Given the description of an element on the screen output the (x, y) to click on. 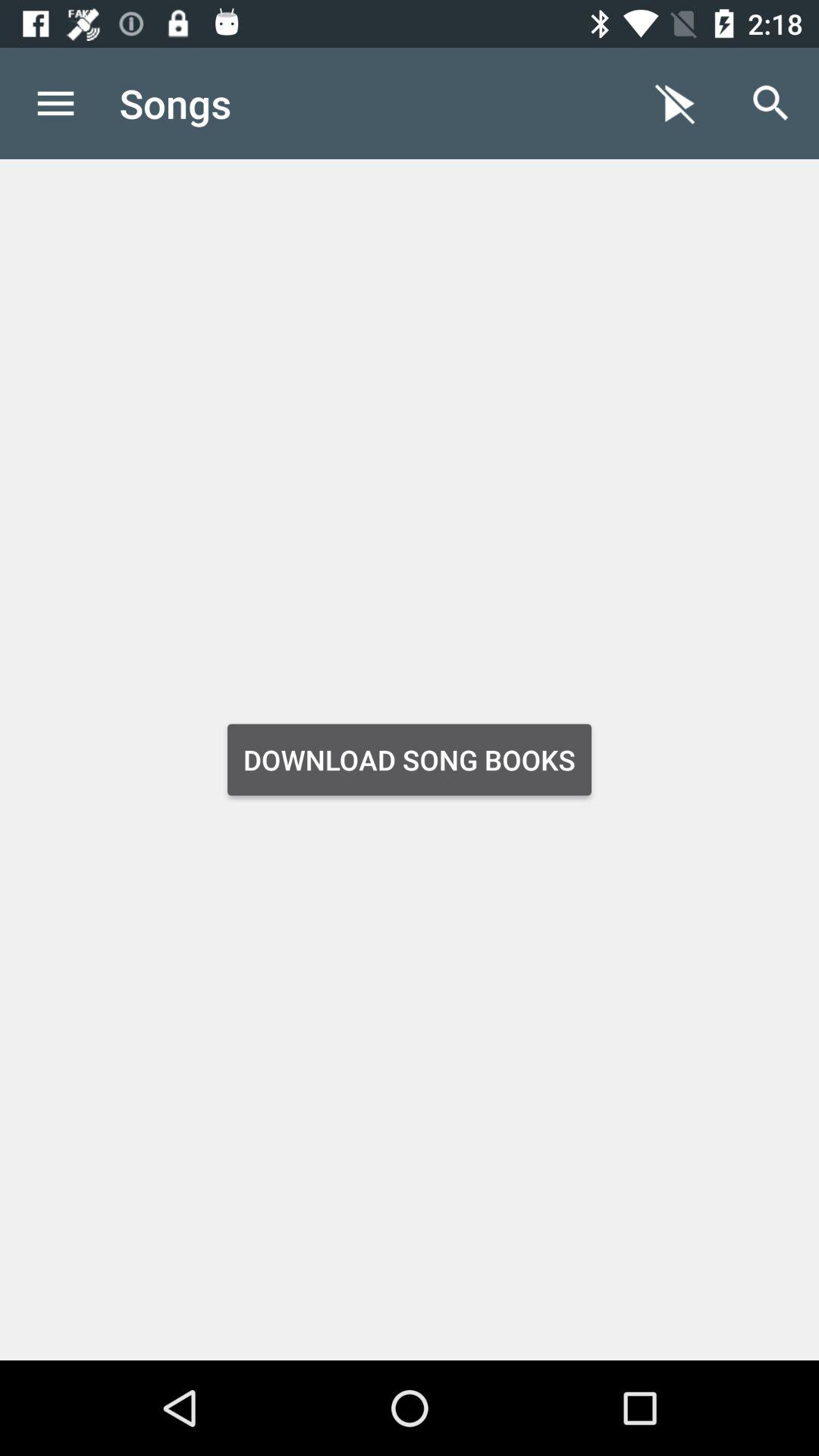
press the app next to the songs app (675, 103)
